Given the description of an element on the screen output the (x, y) to click on. 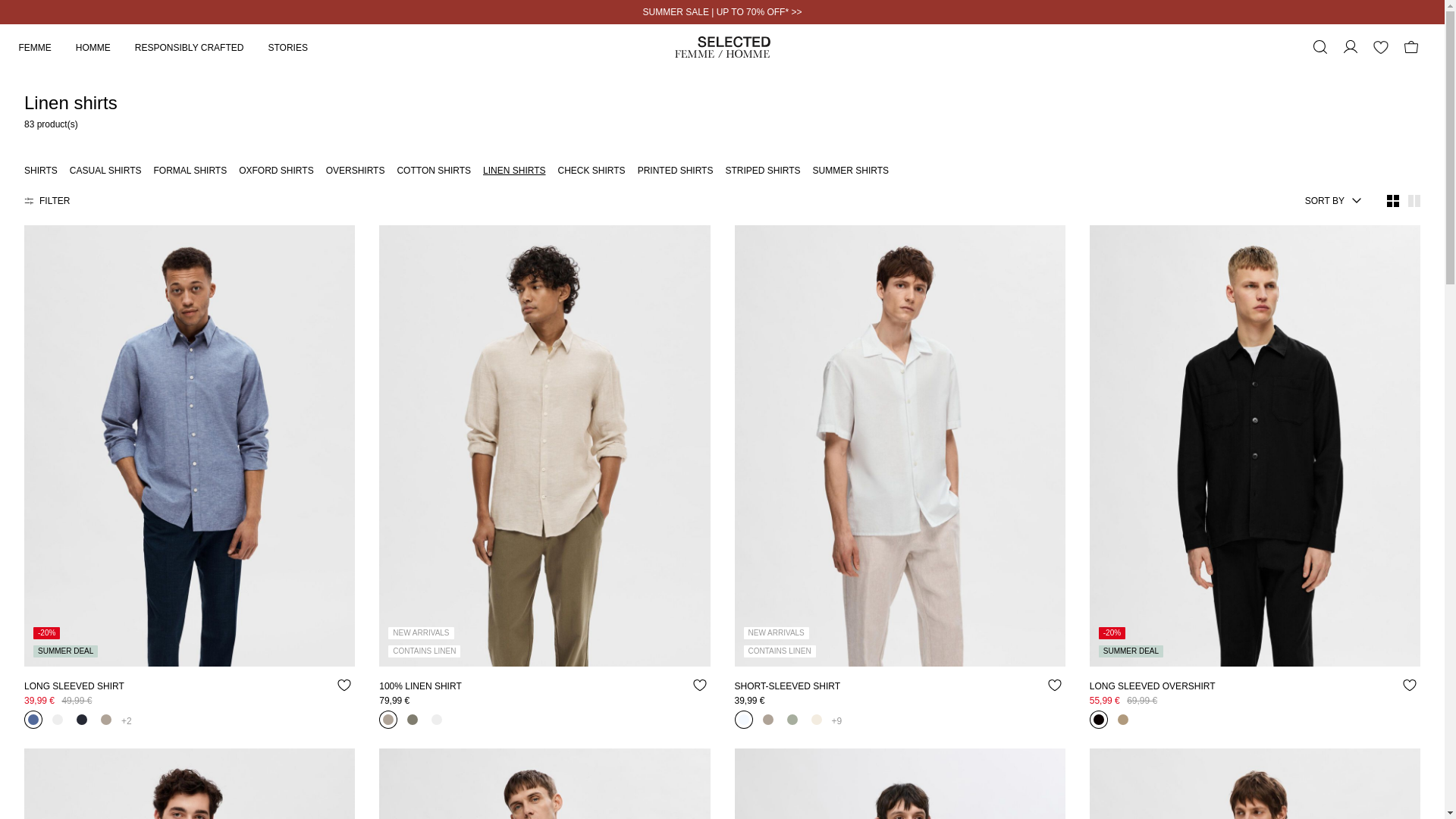
Sign in (1350, 46)
Return to Home Page (722, 46)
RESPONSIBLY CRAFTED (201, 46)
Bag (1409, 46)
FEMME (46, 46)
HOMME (105, 46)
Search (1319, 46)
Wishlist (1379, 46)
STORIES (299, 46)
